Given the description of an element on the screen output the (x, y) to click on. 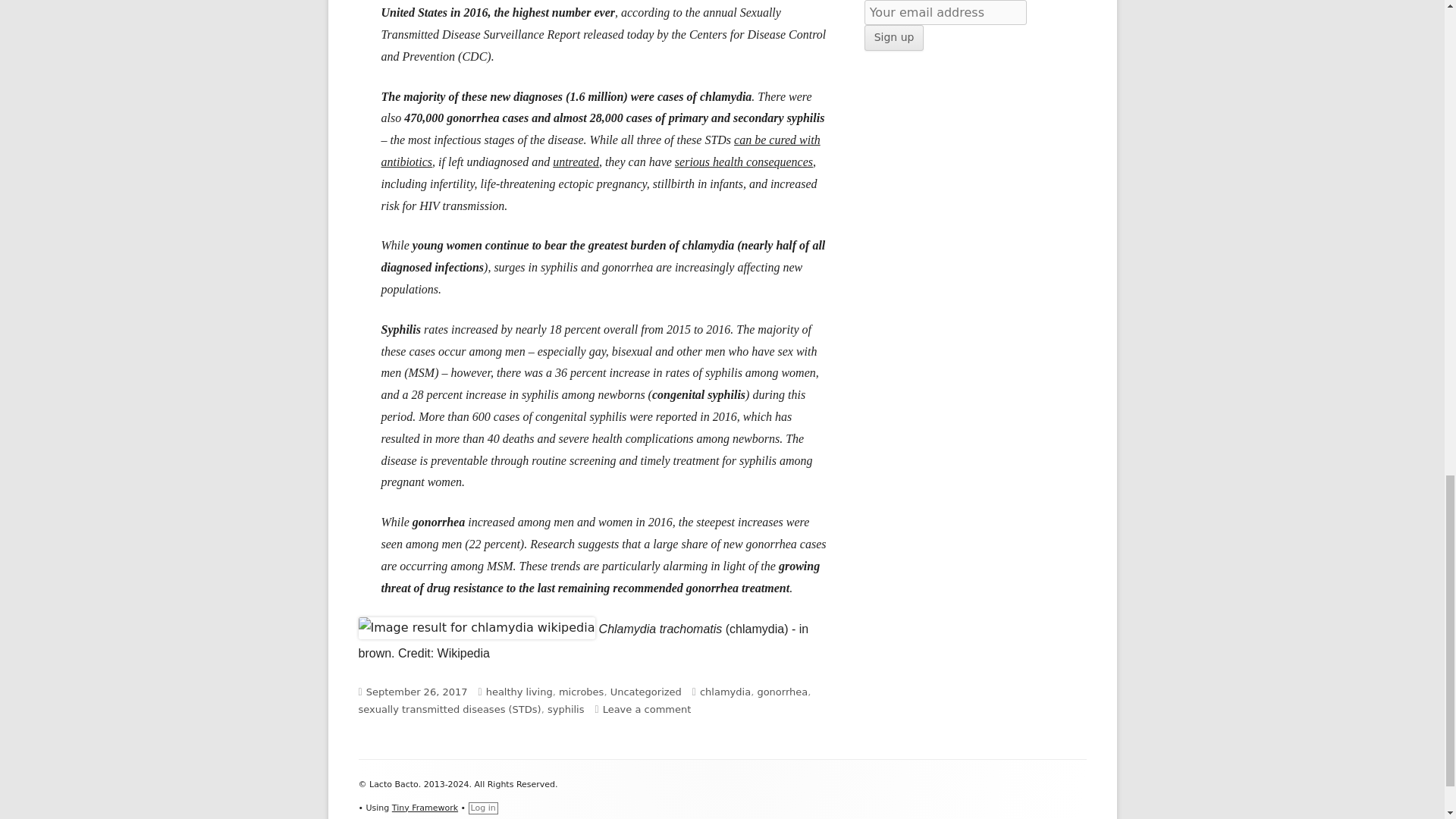
Uncategorized (645, 691)
September 26, 2017 (416, 691)
gonorrhea (782, 691)
Sign up (894, 37)
microbes (581, 691)
syphilis (566, 708)
healthy living (519, 691)
chlamydia (725, 691)
